Given the description of an element on the screen output the (x, y) to click on. 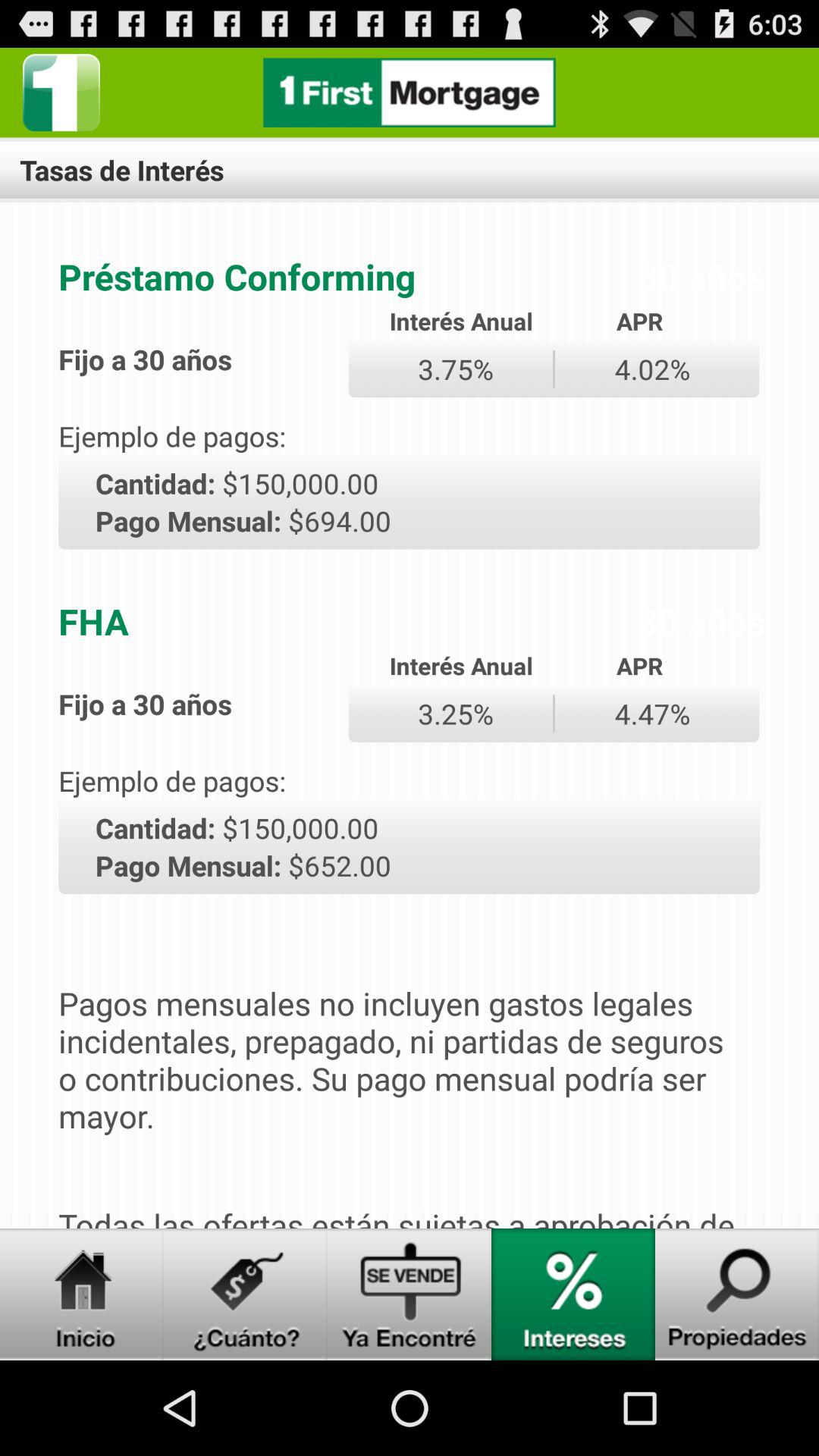
open options (61, 92)
